Given the description of an element on the screen output the (x, y) to click on. 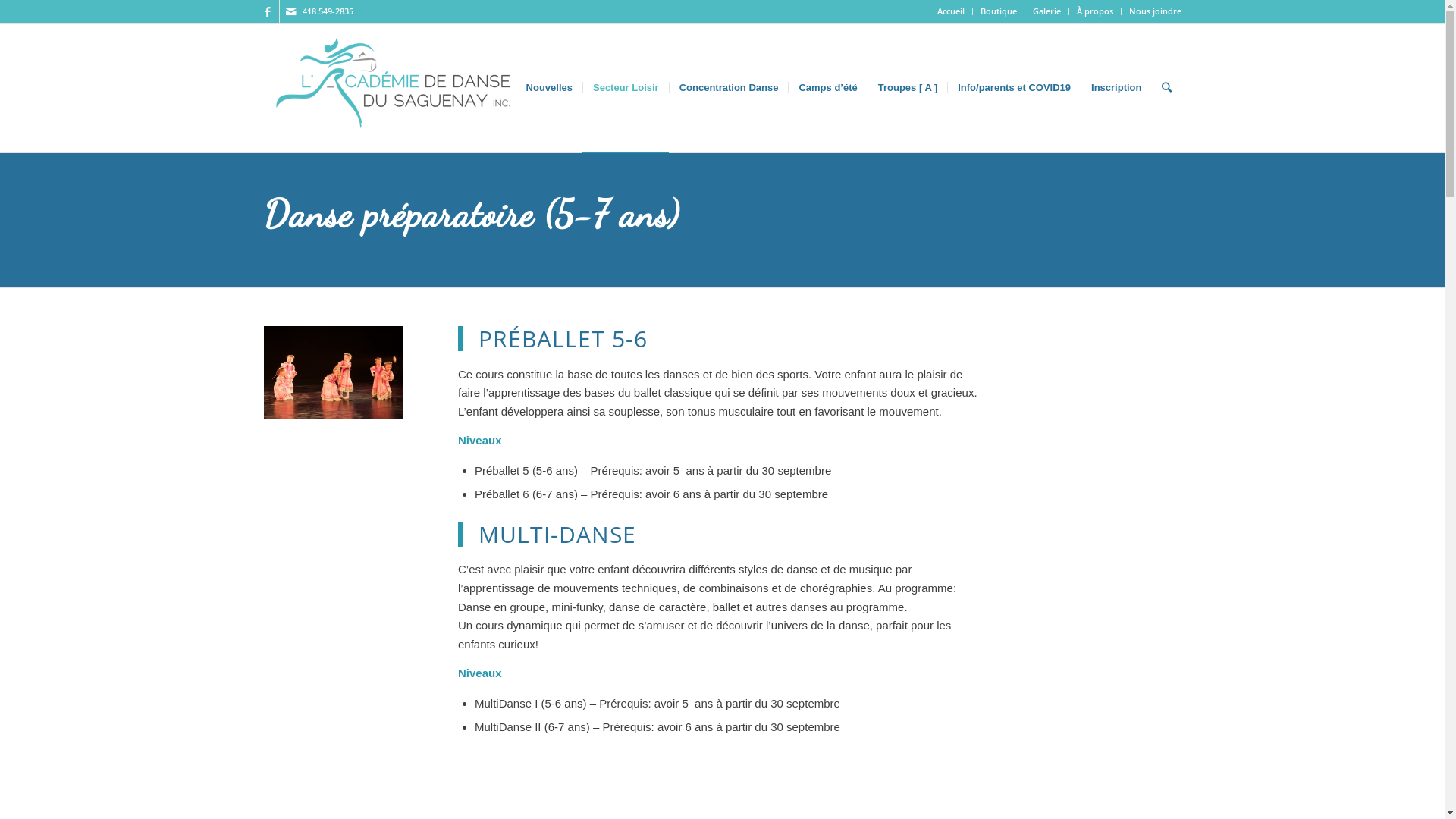
Nouvelles Element type: text (549, 87)
Nous joindre Element type: text (1154, 10)
Facebook Element type: hover (267, 11)
Troupes [ A ] Element type: text (907, 87)
Boutique Element type: text (997, 10)
Mail Element type: hover (290, 11)
Info/parents et COVID19 Element type: text (1013, 87)
Inscription Element type: text (1115, 87)
Secteur Loisir Element type: text (625, 87)
Concentration Danse Element type: text (728, 87)
Accueil Element type: text (950, 10)
Galerie Element type: text (1046, 10)
